Given the description of an element on the screen output the (x, y) to click on. 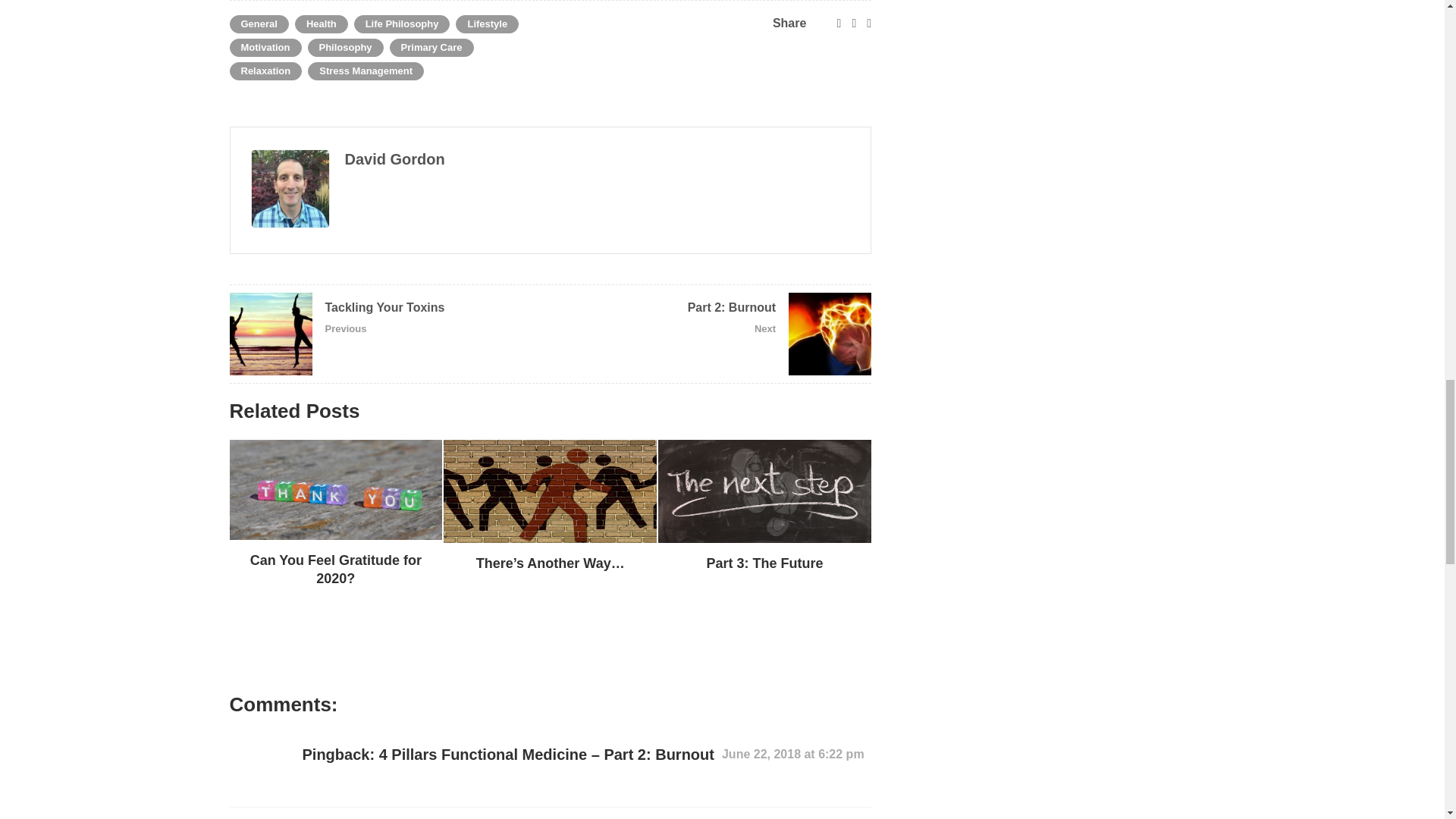
Can You Feel Gratitude for 2020? (335, 570)
Part 3: The Future (764, 563)
